Given the description of an element on the screen output the (x, y) to click on. 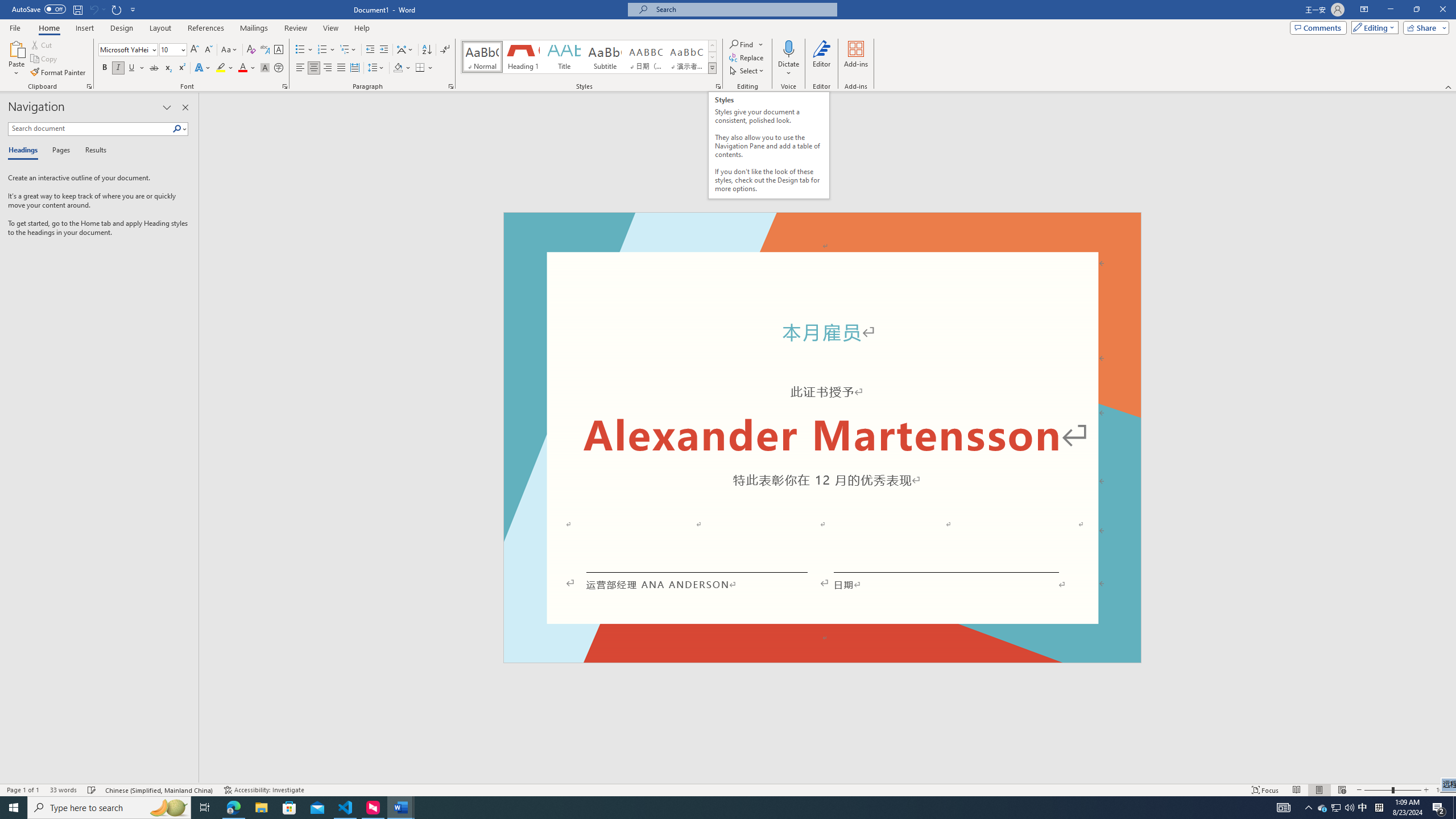
Cut (42, 44)
Sort... (426, 49)
Copy (45, 58)
Results (91, 150)
Select (747, 69)
Language Chinese (Simplified, Mainland China) (159, 790)
Shrink Font (208, 49)
Decrease Indent (370, 49)
